Given the description of an element on the screen output the (x, y) to click on. 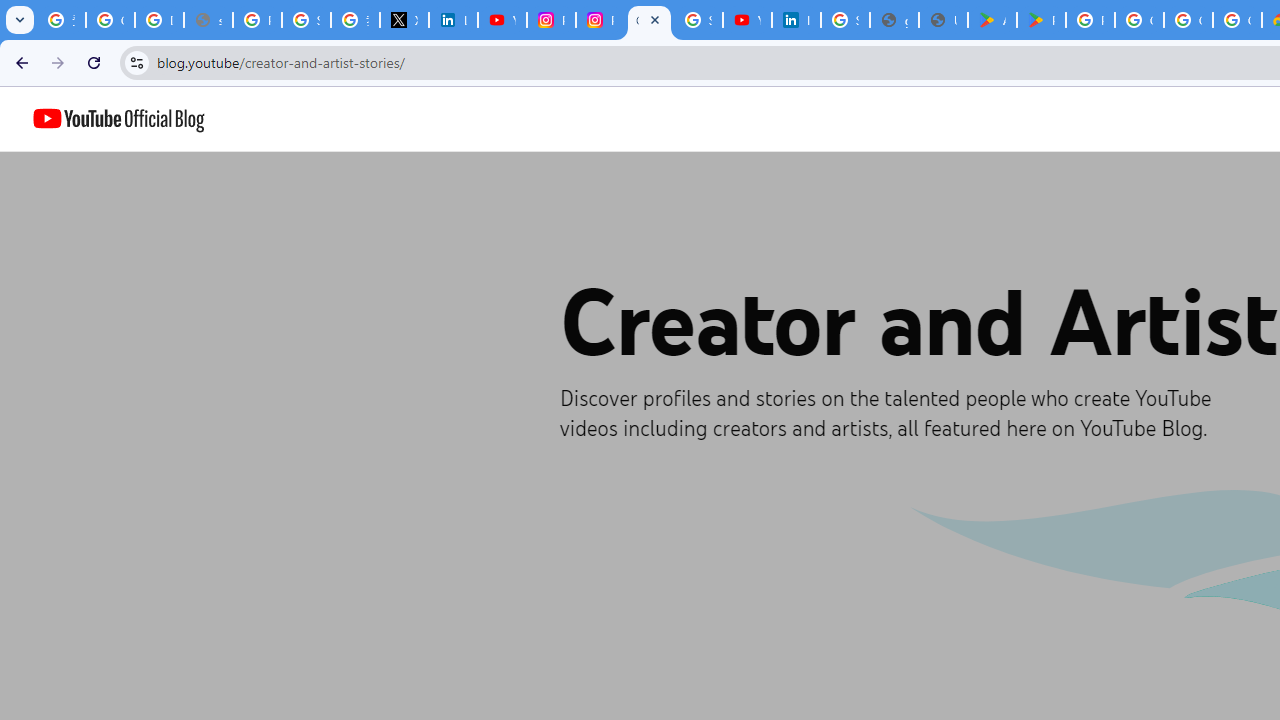
Privacy Help Center - Policies Help (257, 20)
